Given the description of an element on the screen output the (x, y) to click on. 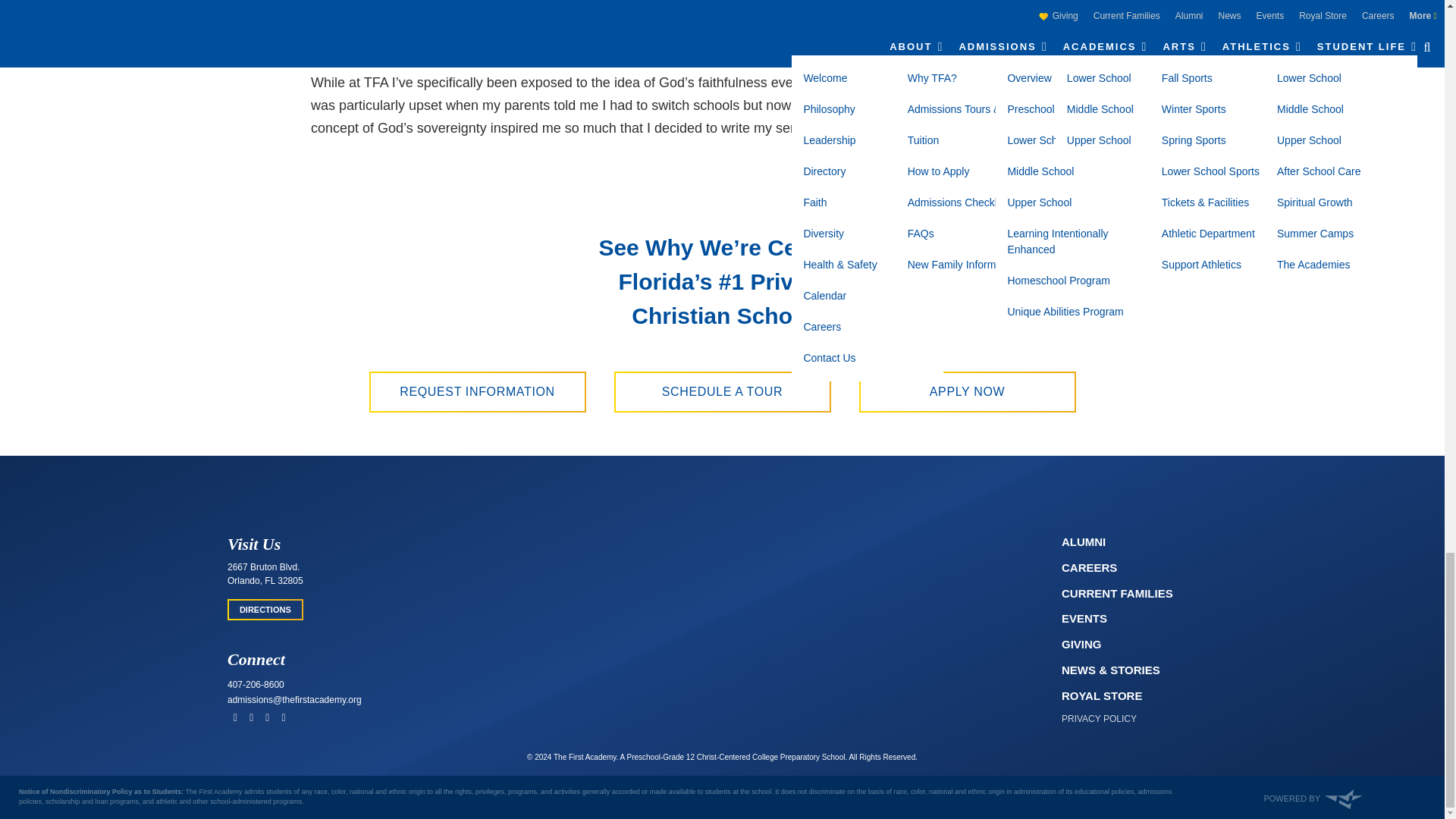
Developed by North Star Marketing (1312, 797)
Go to Home Page (721, 539)
